Given the description of an element on the screen output the (x, y) to click on. 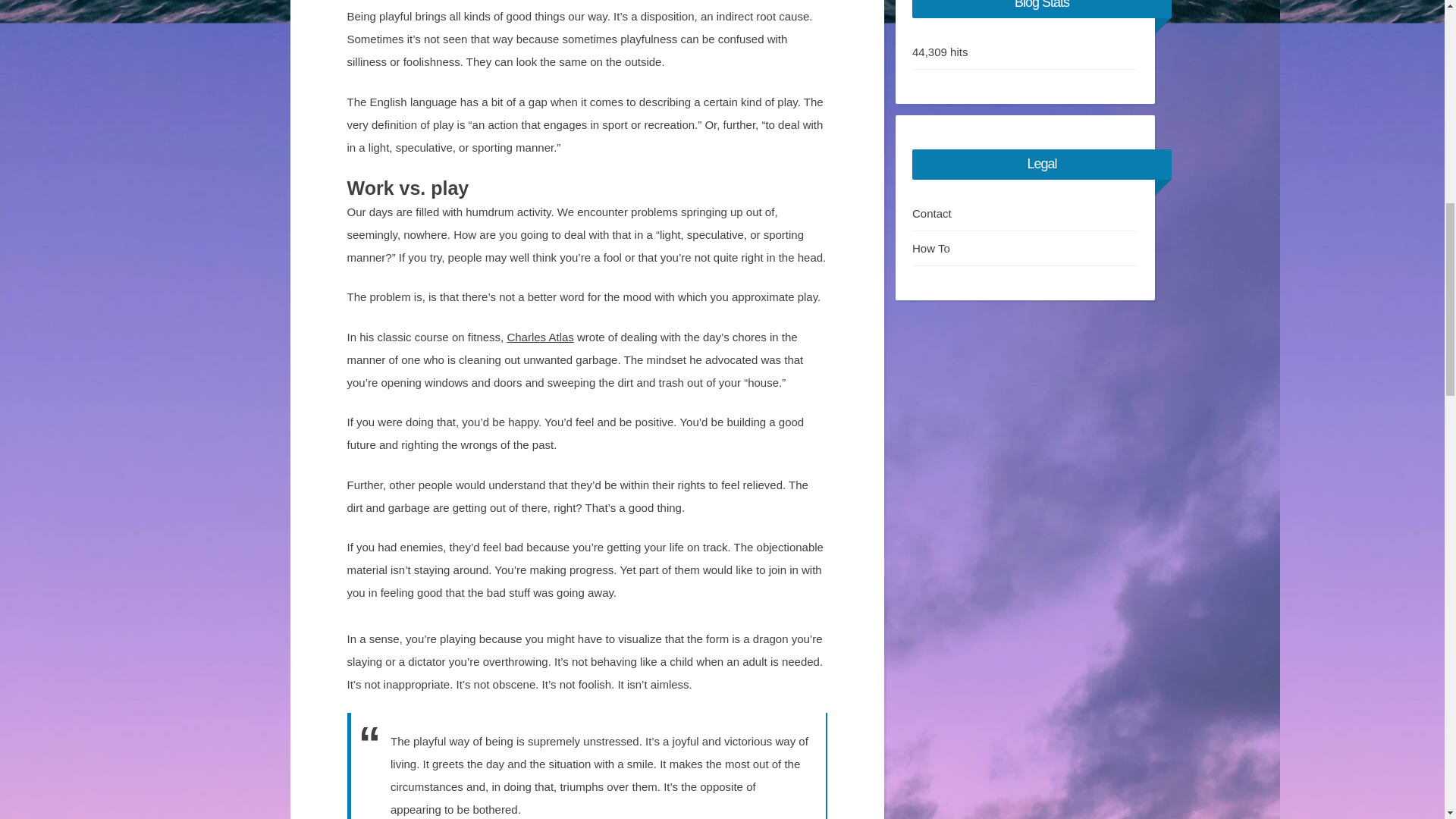
Charles Atlas (539, 336)
Contact (1024, 213)
How To (1024, 248)
